Given the description of an element on the screen output the (x, y) to click on. 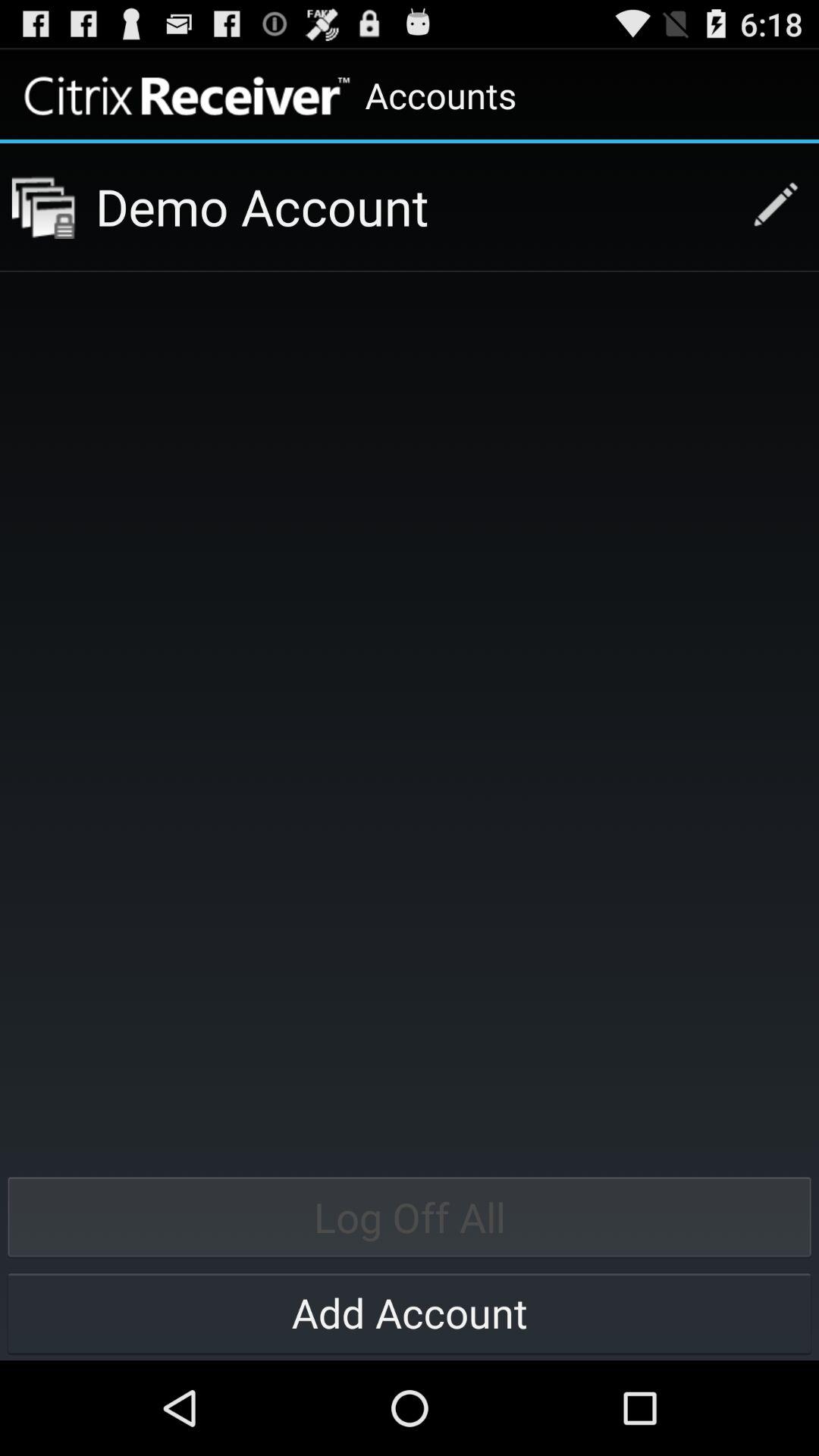
select app next to demo account (43, 206)
